Given the description of an element on the screen output the (x, y) to click on. 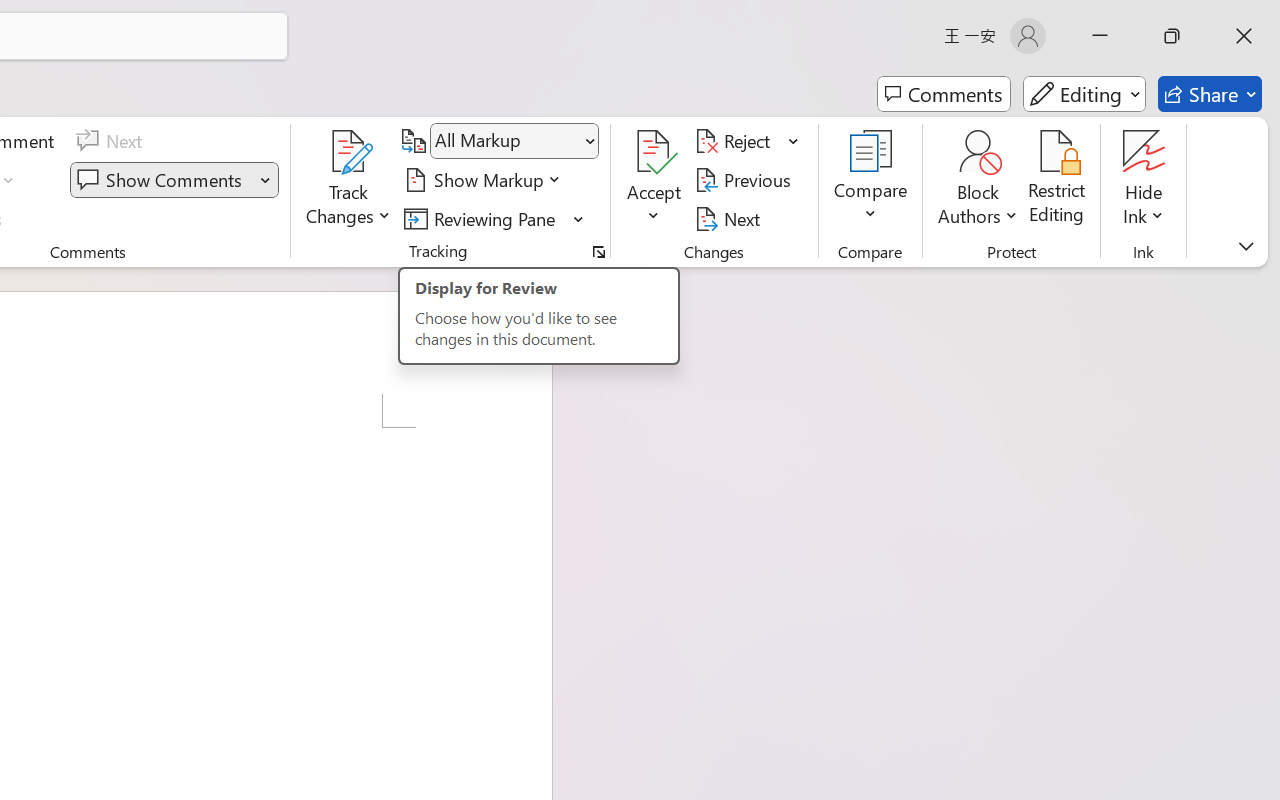
Show Markup (485, 179)
Compare (870, 179)
Reject (747, 141)
Restrict Editing (1057, 179)
Show Comments (162, 179)
Accept (653, 179)
Block Authors (977, 179)
Reject and Move to Next (735, 141)
Track Changes (349, 151)
